Given the description of an element on the screen output the (x, y) to click on. 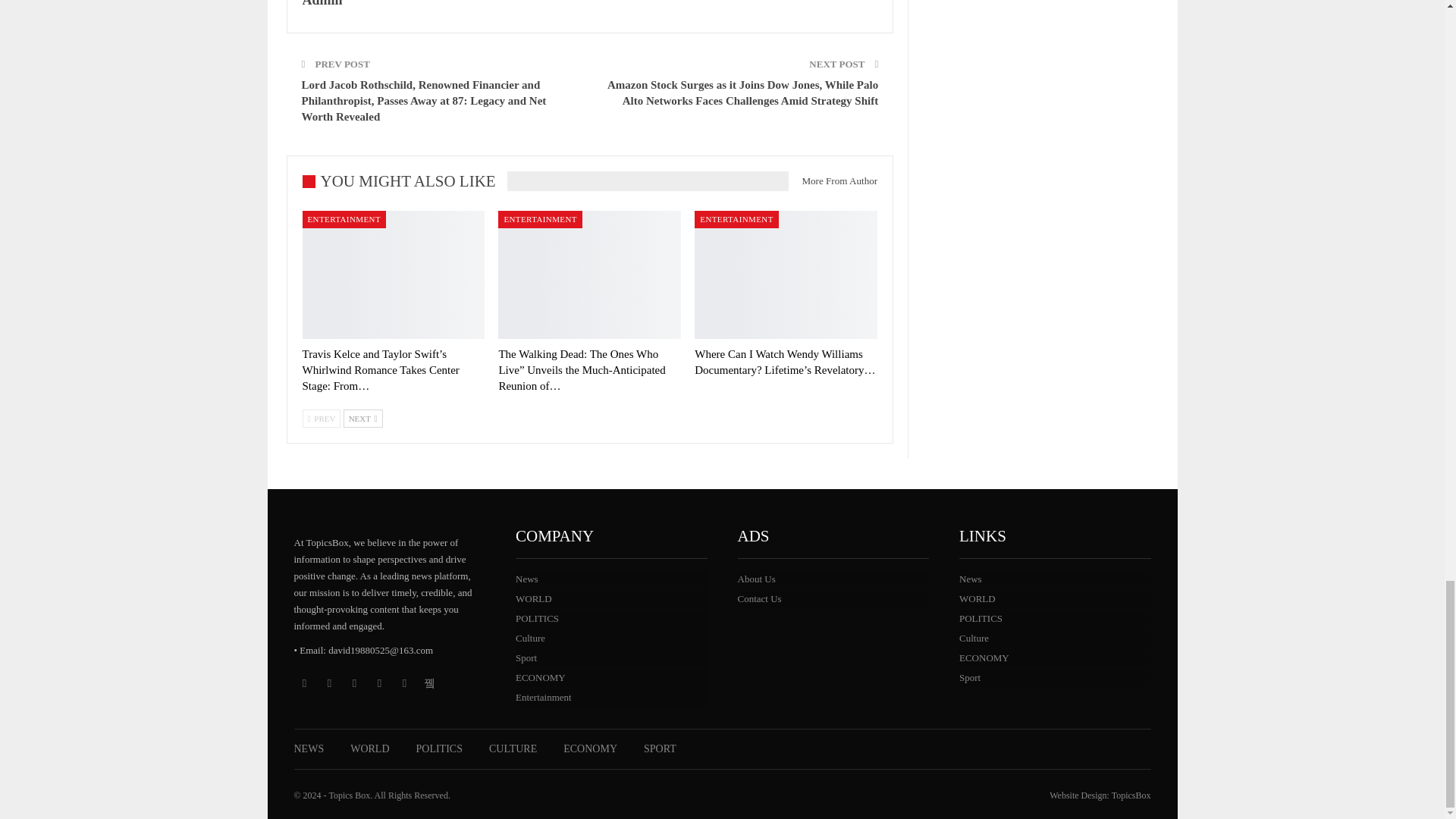
Previous (320, 418)
Next (362, 418)
